Given the description of an element on the screen output the (x, y) to click on. 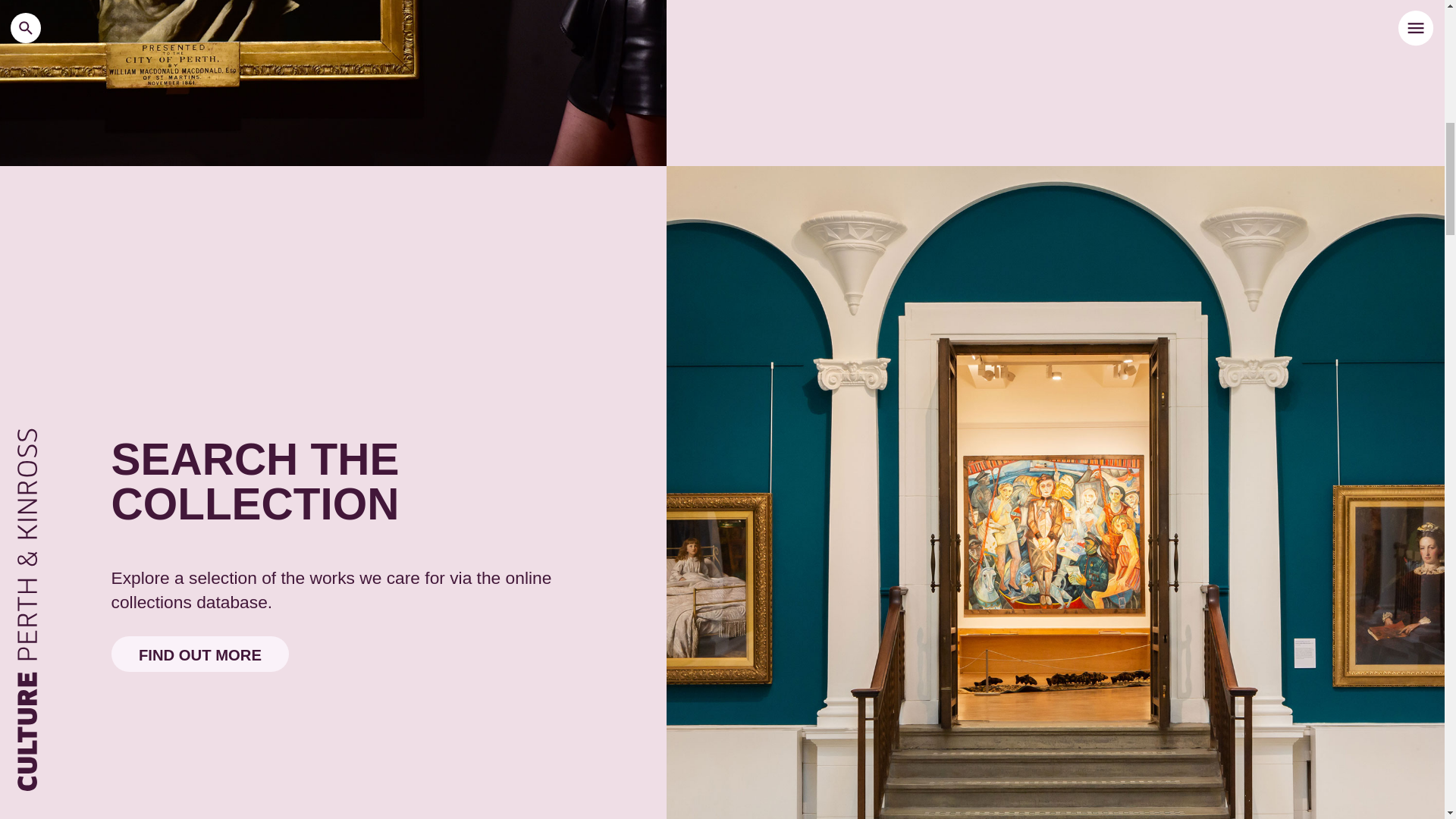
Museum Collections 1 (333, 83)
